Given the description of an element on the screen output the (x, y) to click on. 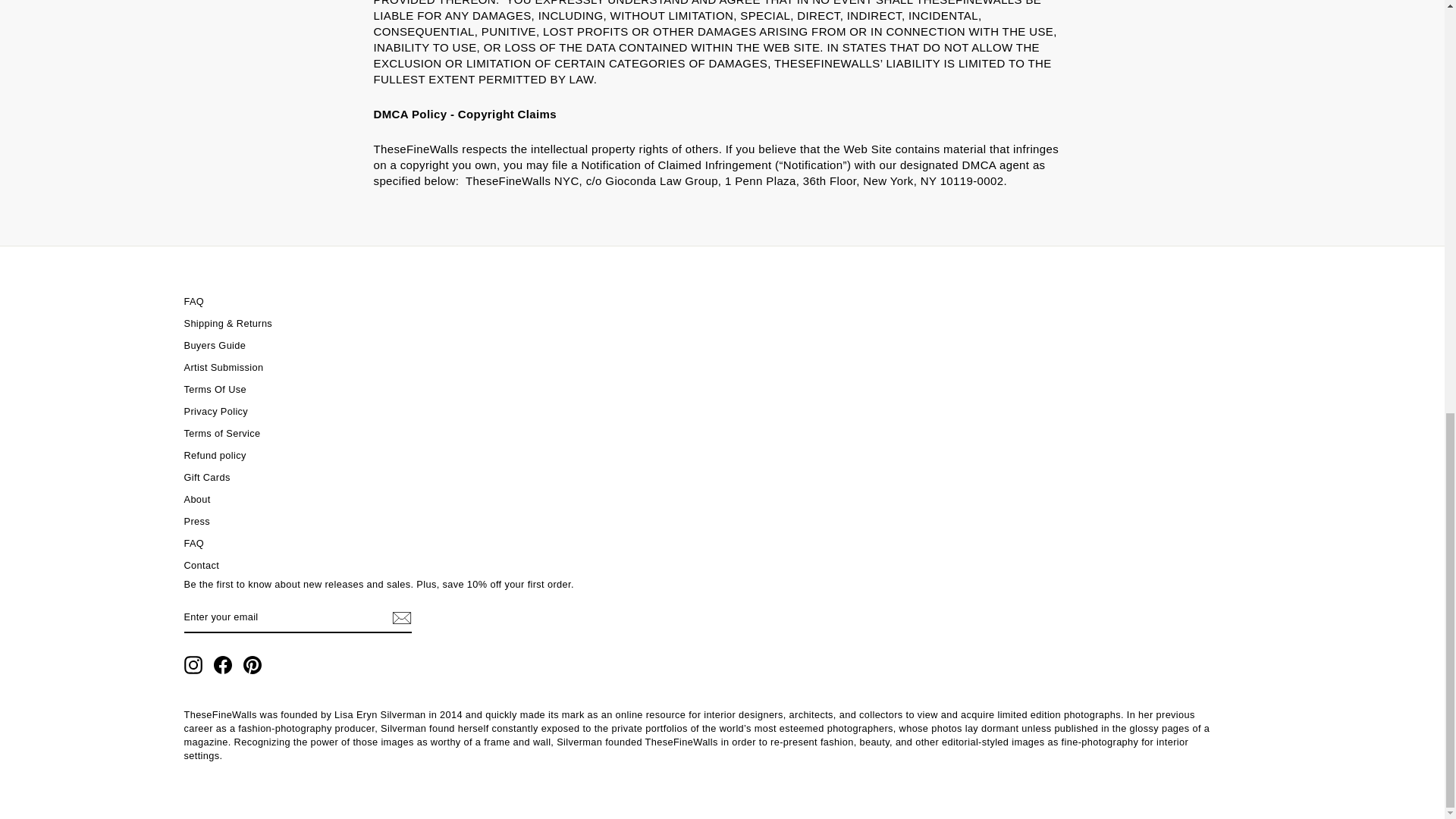
These Fine Walls on Pinterest (251, 665)
These Fine Walls on Facebook (222, 665)
These Fine Walls on Instagram (192, 665)
